Given the description of an element on the screen output the (x, y) to click on. 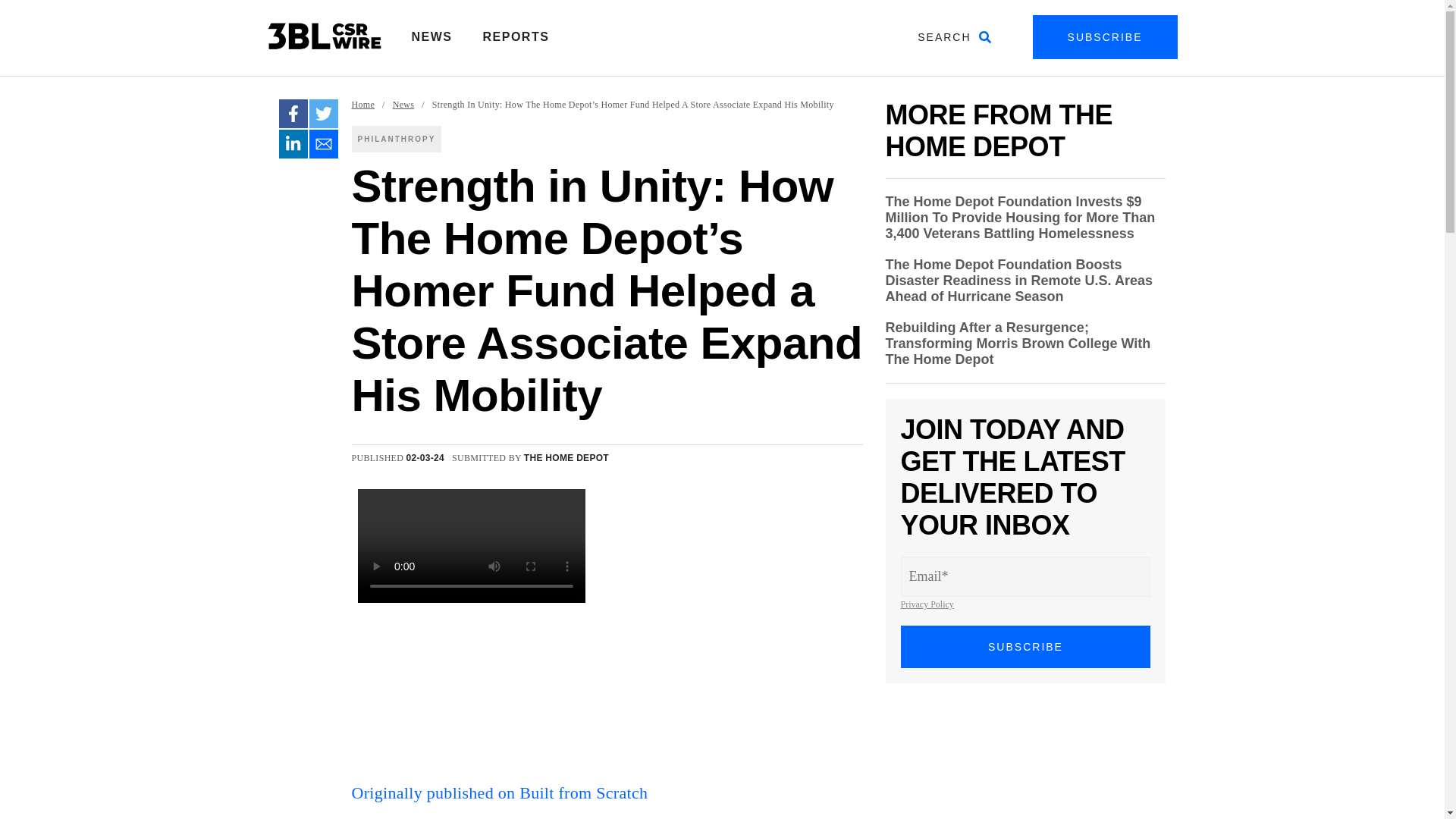
Linkedin (293, 143)
Twitter (322, 113)
SEARCH (953, 36)
SUBSCRIBE (1104, 36)
Facebook (293, 113)
News (403, 104)
Privacy Policy (927, 603)
PHILANTHROPY (397, 139)
Originally published on Built from Scratch (499, 792)
SUBSCRIBE (1026, 646)
Home (363, 104)
